Given the description of an element on the screen output the (x, y) to click on. 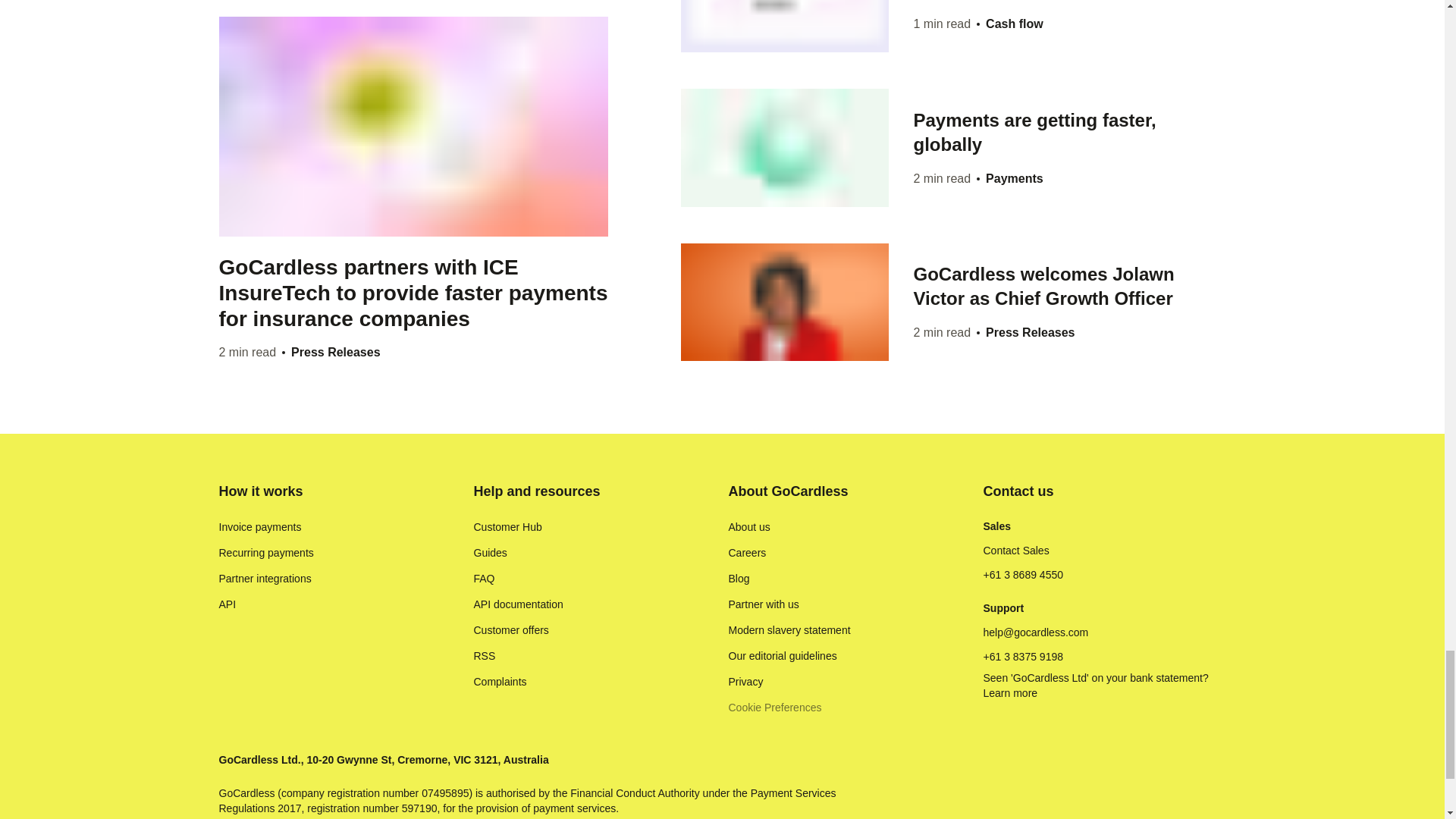
Partner integrations (264, 578)
Privacy (745, 681)
API (226, 604)
Careers (746, 552)
Invoice payments (259, 526)
Guides (489, 552)
About us (749, 526)
Blog (738, 578)
Partner with us (762, 604)
Customer offers (510, 630)
FAQ (484, 578)
RSS (484, 655)
Customer Hub (507, 526)
API documentation (517, 604)
Modern slavery statement (789, 630)
